Given the description of an element on the screen output the (x, y) to click on. 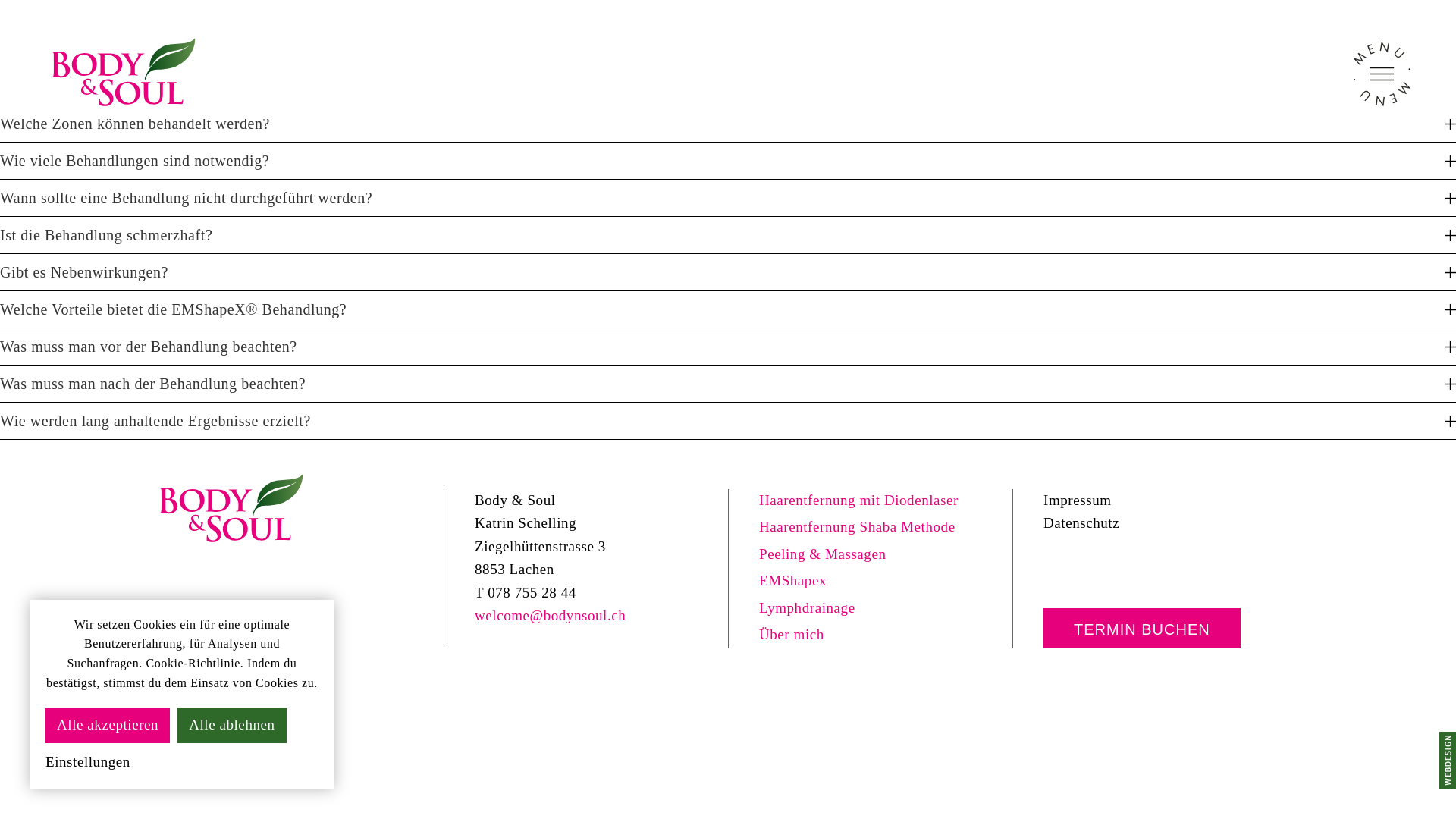
Impressum Element type: text (1077, 500)
Haarentfernung Shaba Methode Element type: text (857, 526)
welcome@bodynsoul.ch Element type: text (549, 615)
Datenschutz Element type: text (1081, 522)
EMShapex Element type: text (792, 580)
TERMIN BUCHEN Element type: text (1141, 629)
Lymphdrainage Element type: text (807, 607)
Peeling & Massagen Element type: text (822, 553)
Alle ablehnen Element type: text (231, 724)
Alle akzeptieren Element type: text (107, 724)
Haarentfernung mit Diodenlaser Element type: text (858, 500)
Einstellungen Element type: text (87, 758)
